Given the description of an element on the screen output the (x, y) to click on. 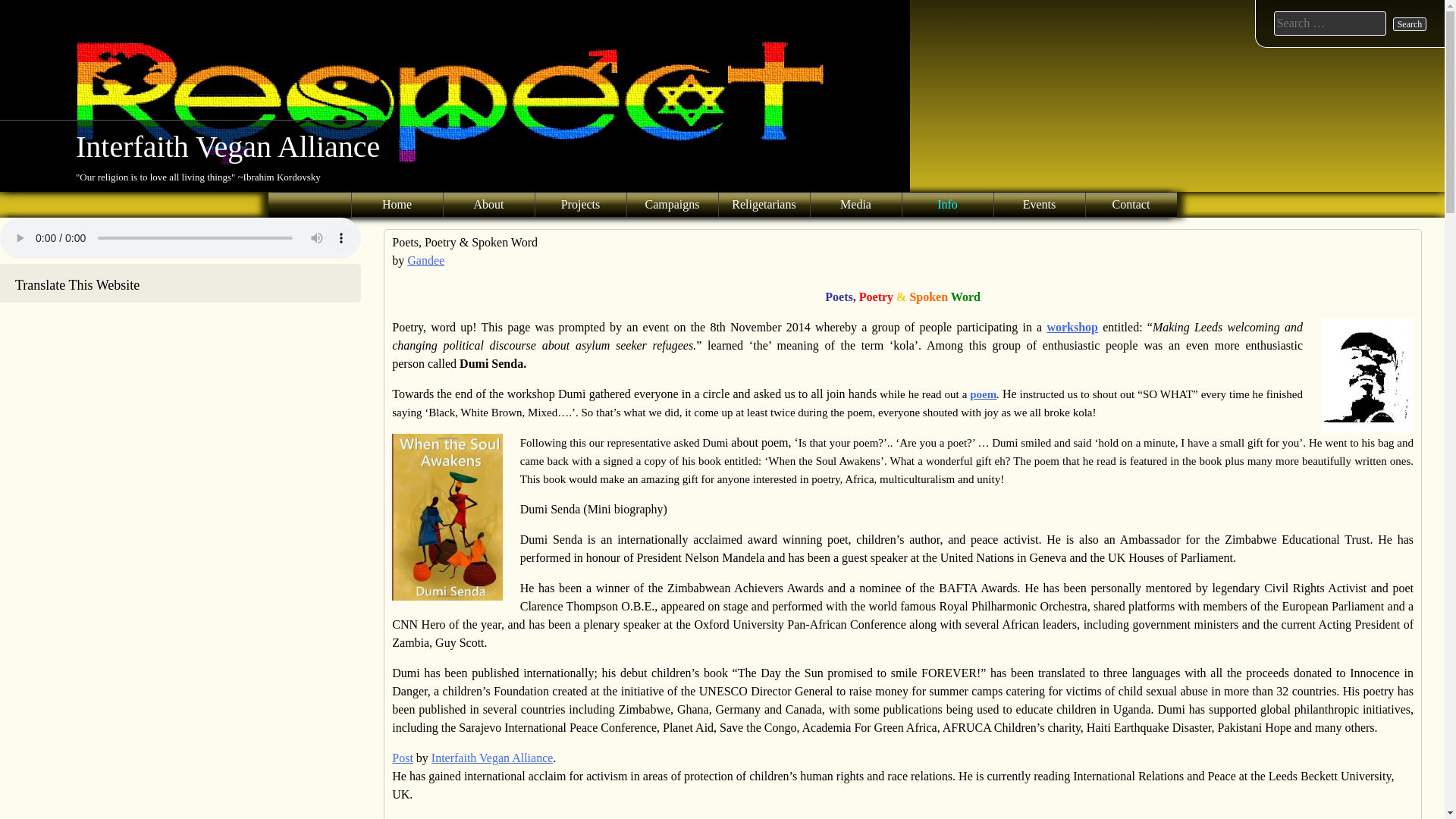
Projects (580, 204)
Search (1409, 24)
Home (397, 204)
Home sweet home! (397, 204)
Campaigns (671, 204)
Interfaith Vegan Alliance (227, 145)
Interfaith Vegan Alliance (227, 145)
Search (1409, 24)
About (488, 204)
